Given the description of an element on the screen output the (x, y) to click on. 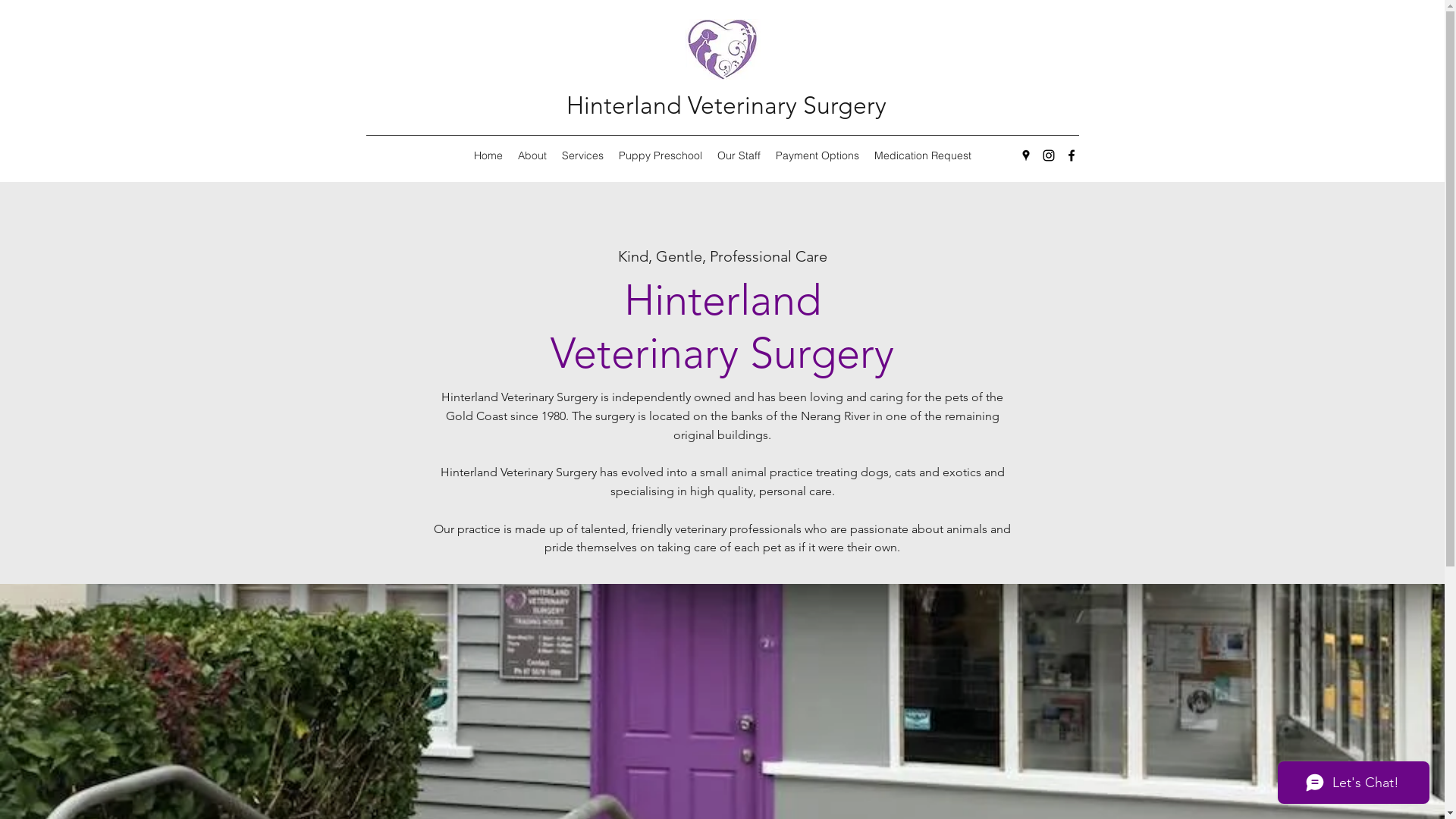
Payment Options Element type: text (816, 155)
Home Element type: text (487, 155)
Hinterland Veterinary Surgery Element type: text (725, 105)
Medication Request Element type: text (922, 155)
Our Staff Element type: text (738, 155)
Puppy Preschool Element type: text (660, 155)
About Element type: text (531, 155)
Services Element type: text (581, 155)
